Given the description of an element on the screen output the (x, y) to click on. 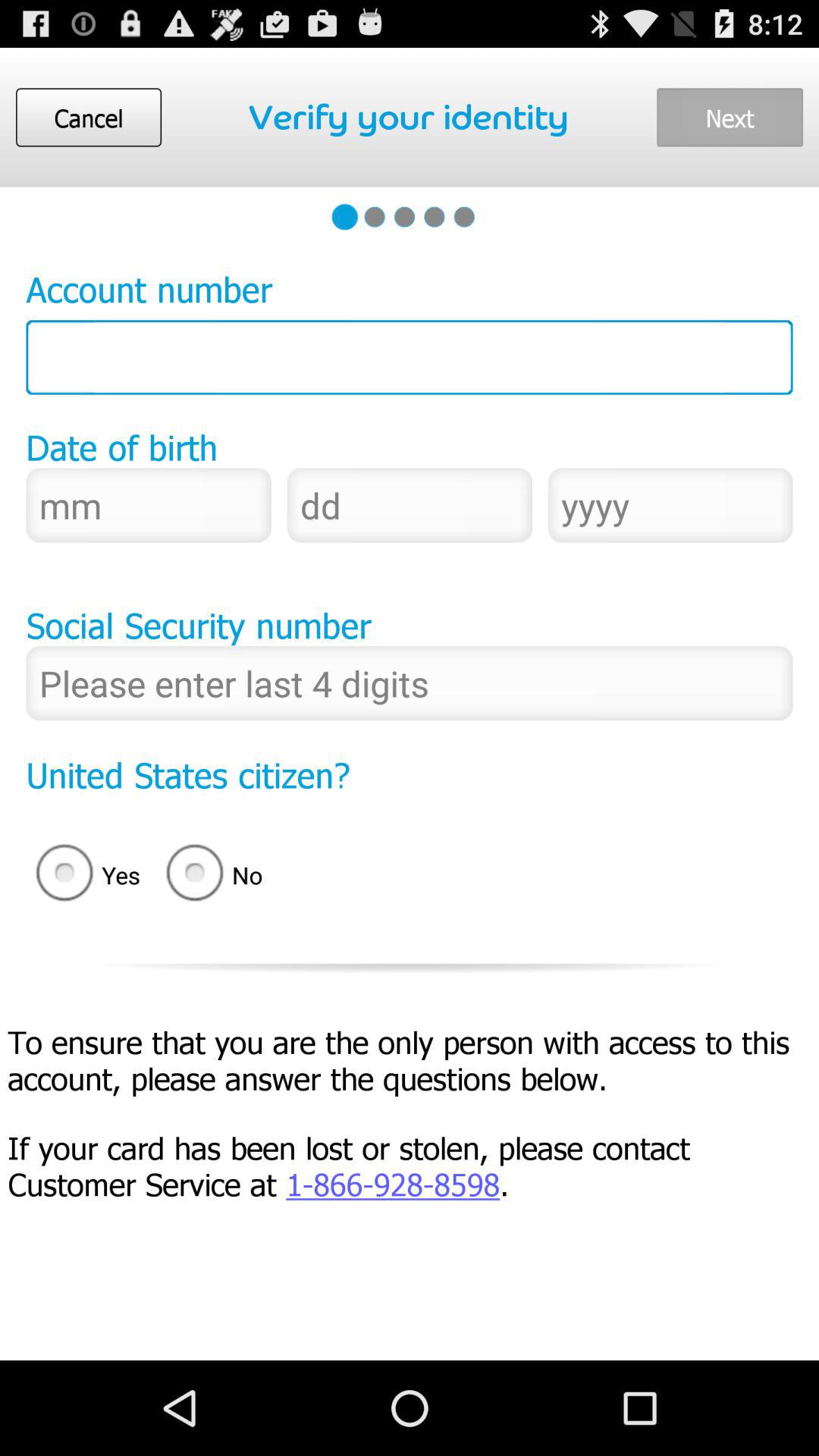
click the icon at the top right corner (729, 117)
